Given the description of an element on the screen output the (x, y) to click on. 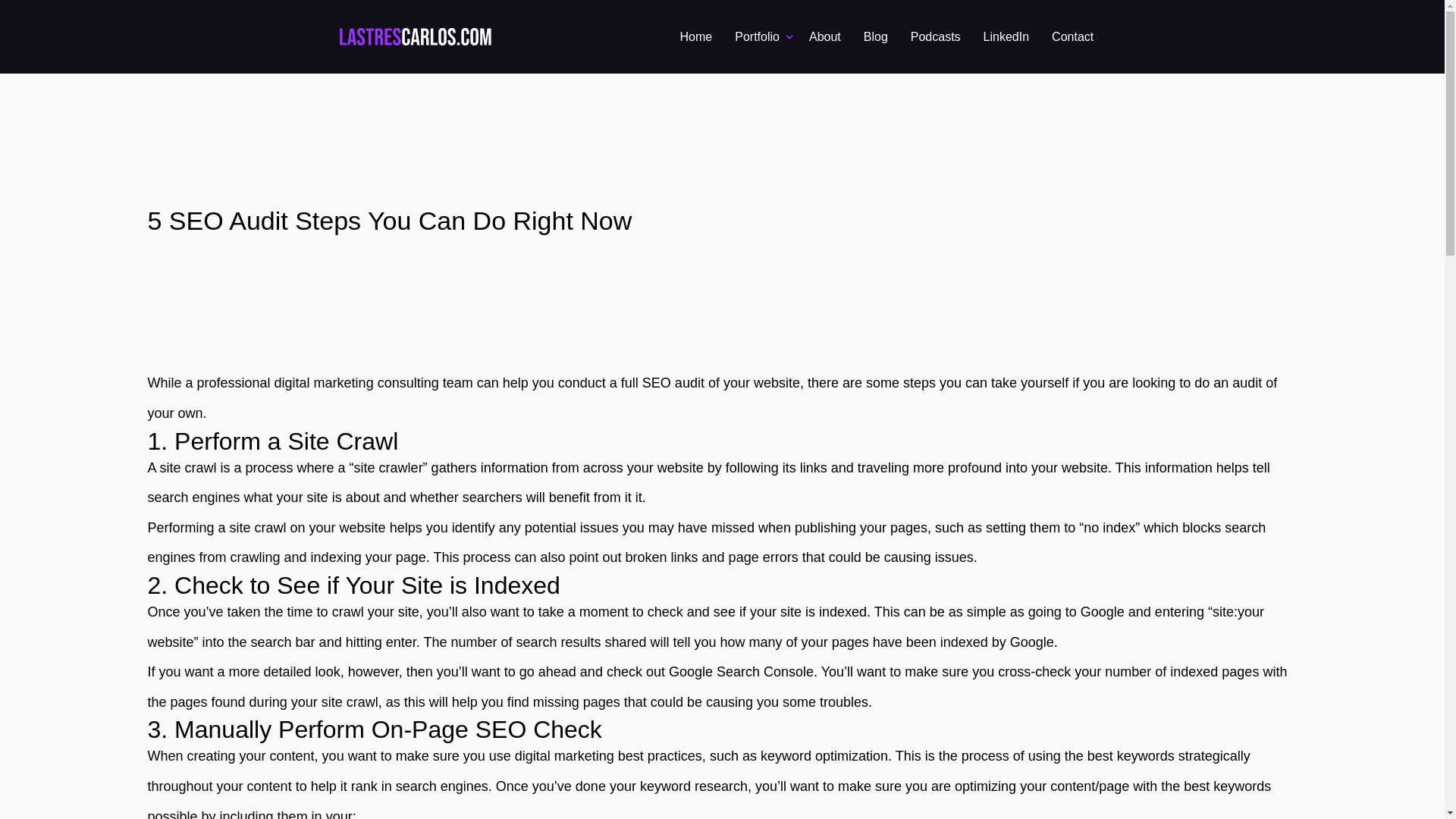
Home (695, 36)
Podcasts (935, 36)
LinkedIn (1006, 36)
Blog (875, 36)
About (824, 36)
Google Search Console (740, 671)
Contact (1073, 36)
